Given the description of an element on the screen output the (x, y) to click on. 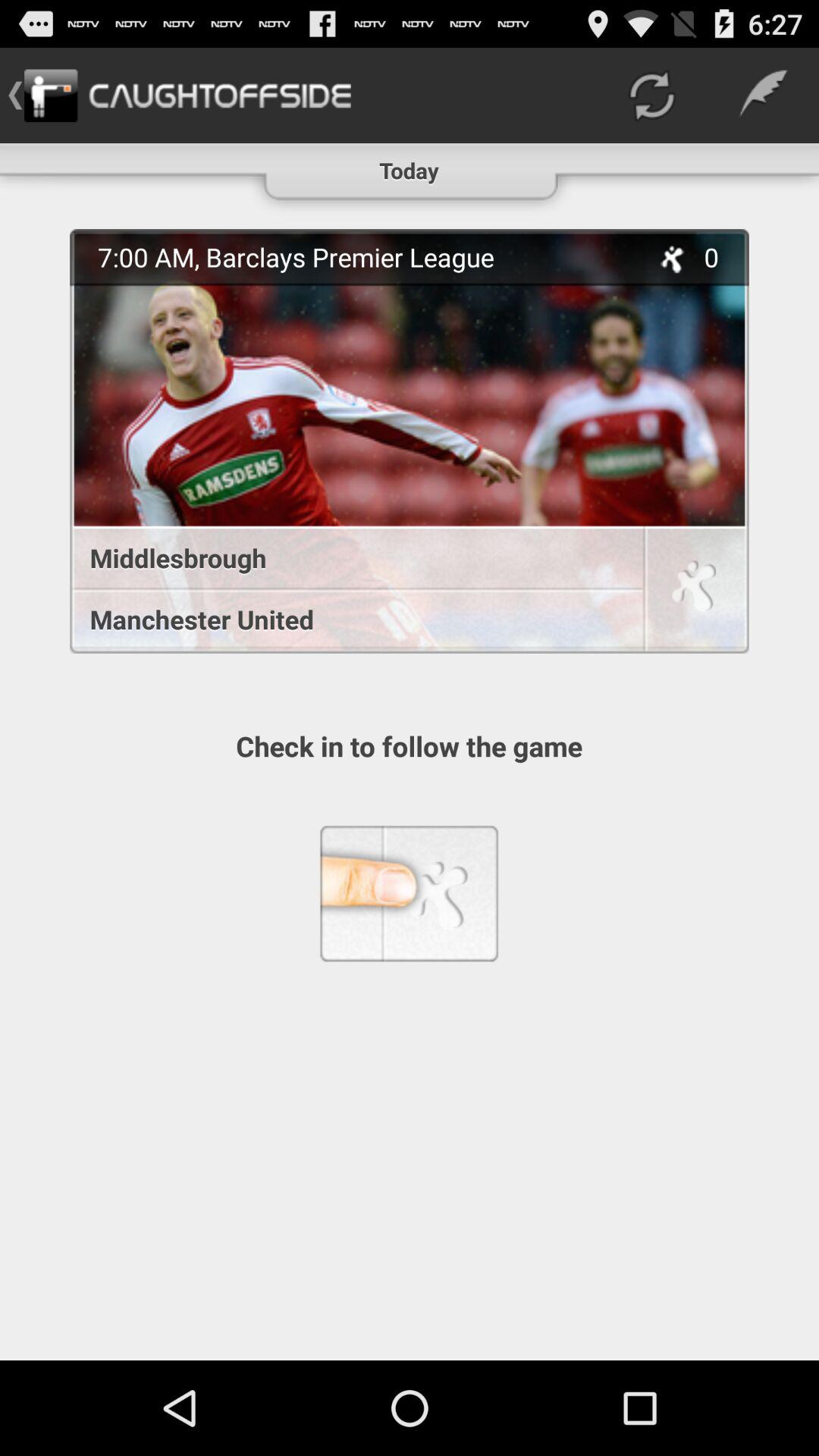
turn off the icon above check in to app (348, 619)
